Given the description of an element on the screen output the (x, y) to click on. 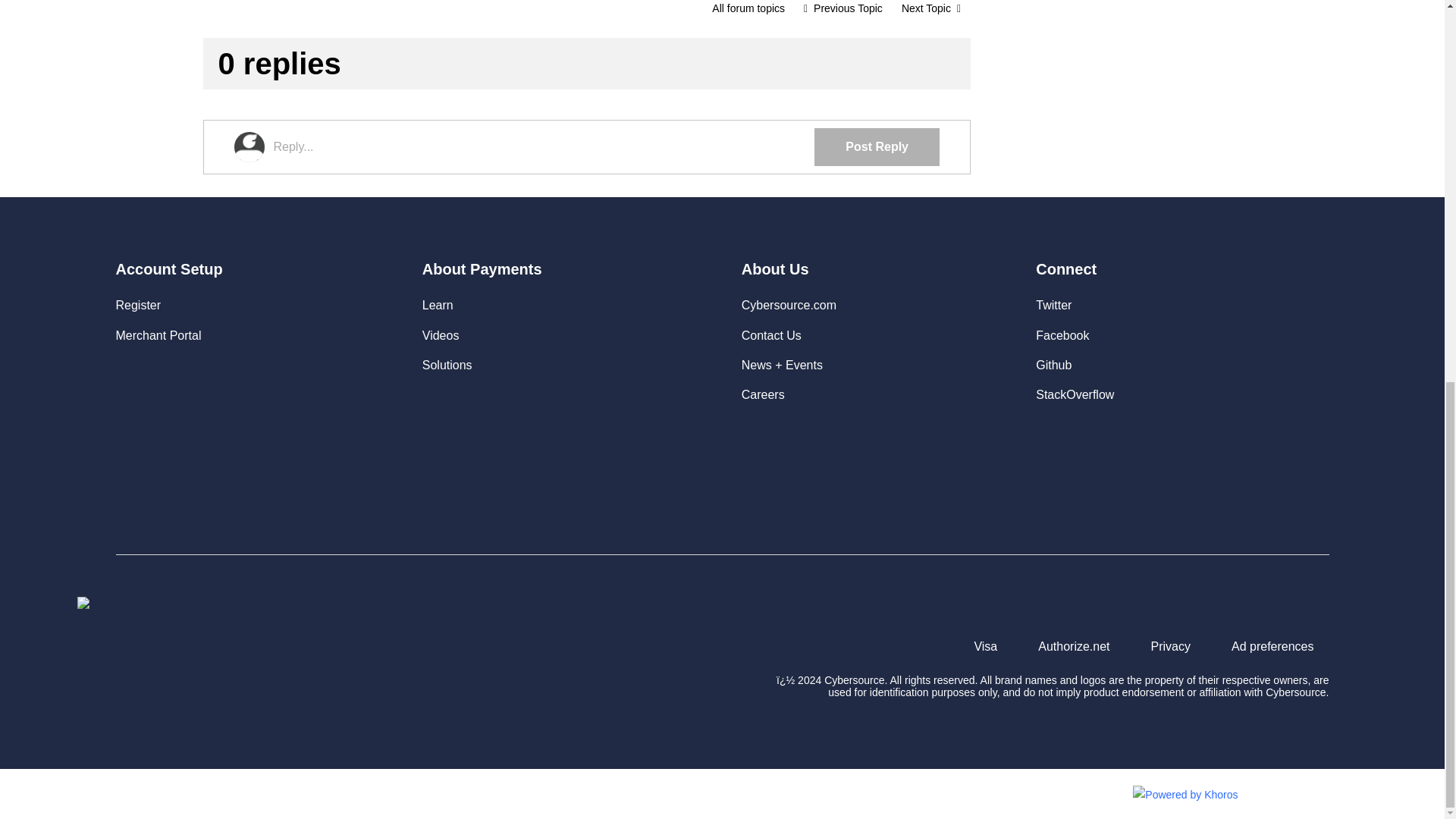
Integration and Testing (747, 11)
Integration of Square E-commerce API with client's website (842, 11)
